Given the description of an element on the screen output the (x, y) to click on. 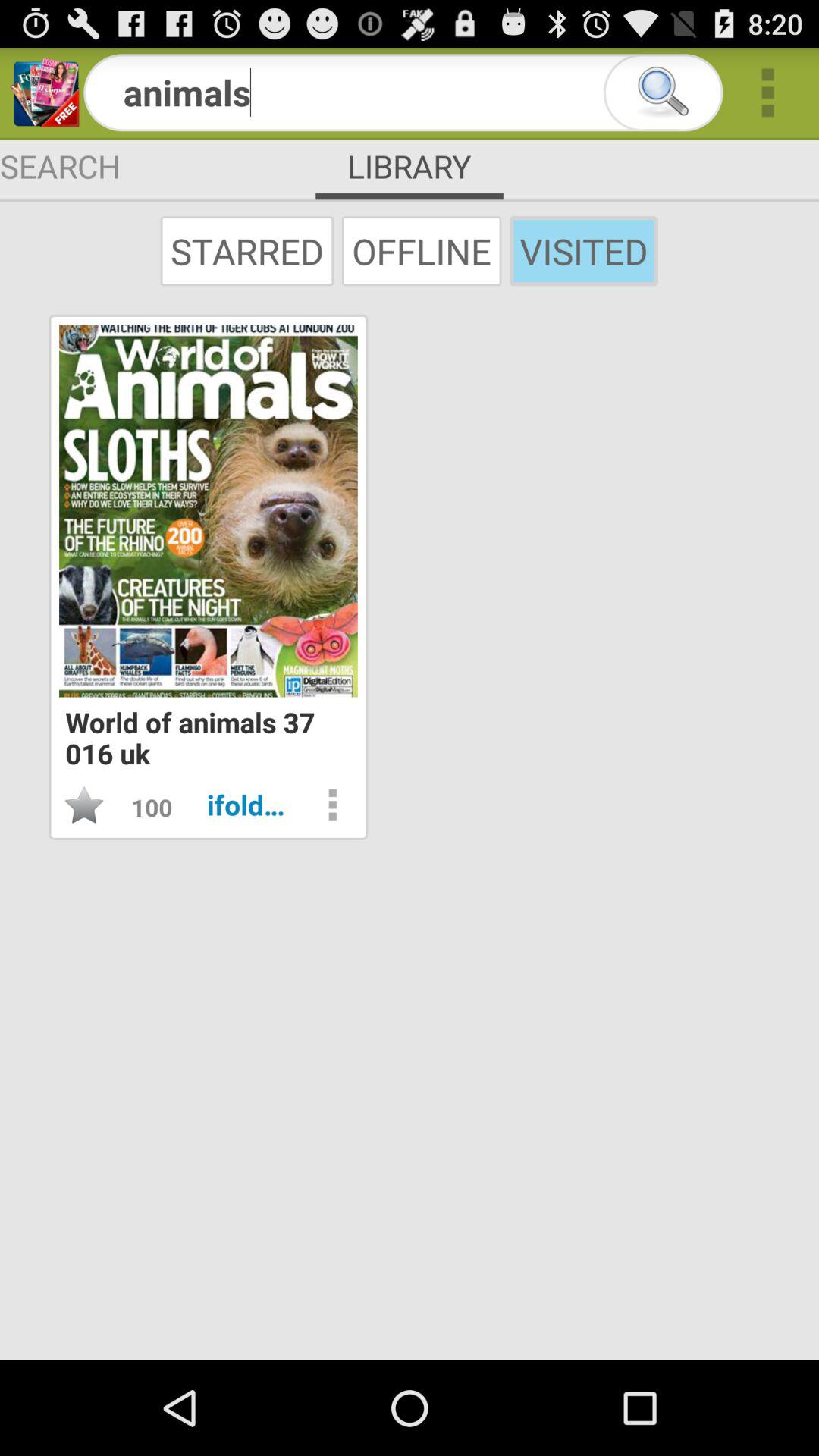
option menu (332, 804)
